Given the description of an element on the screen output the (x, y) to click on. 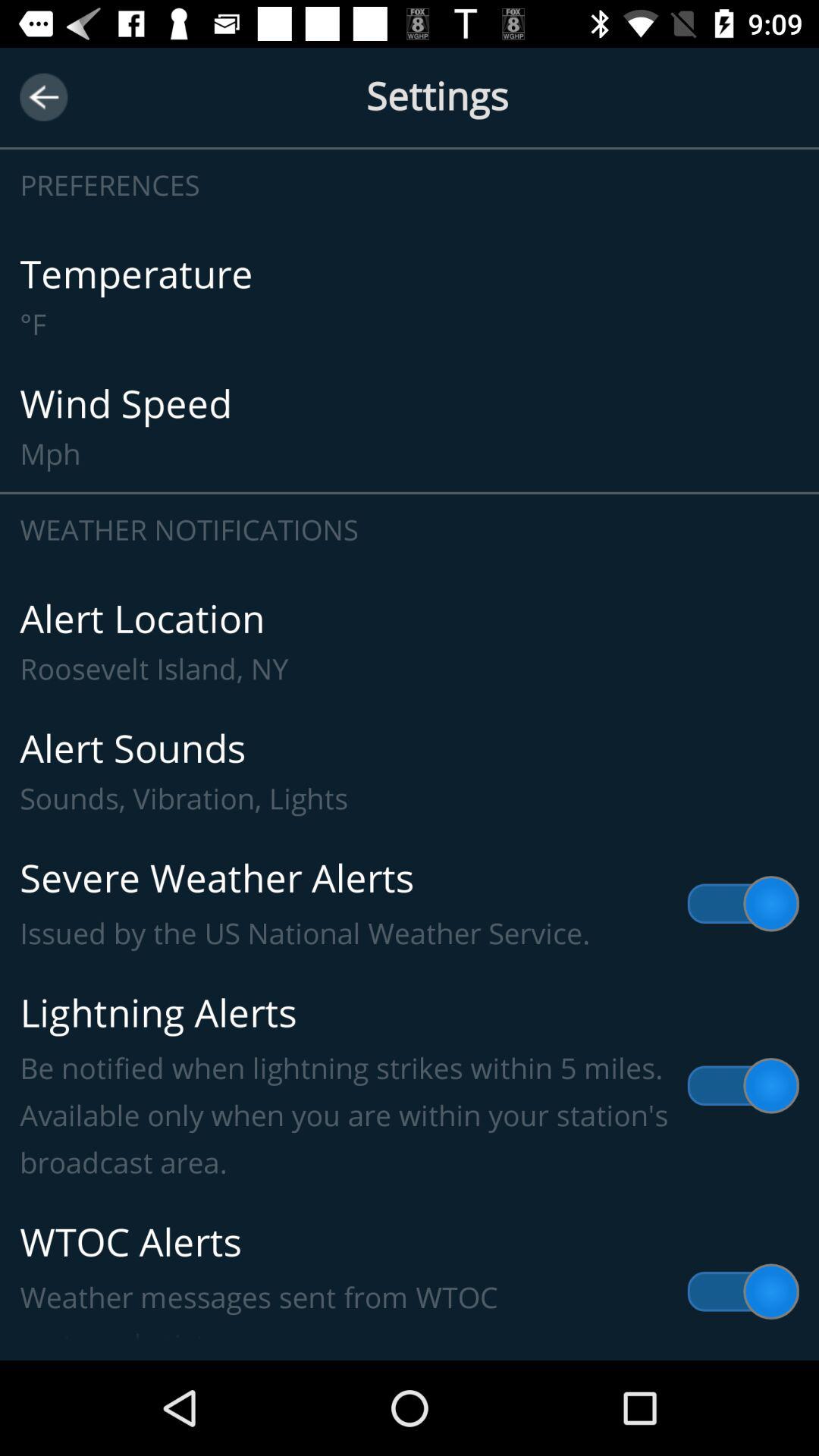
click on the text at top of the page (409, 114)
